Given the description of an element on the screen output the (x, y) to click on. 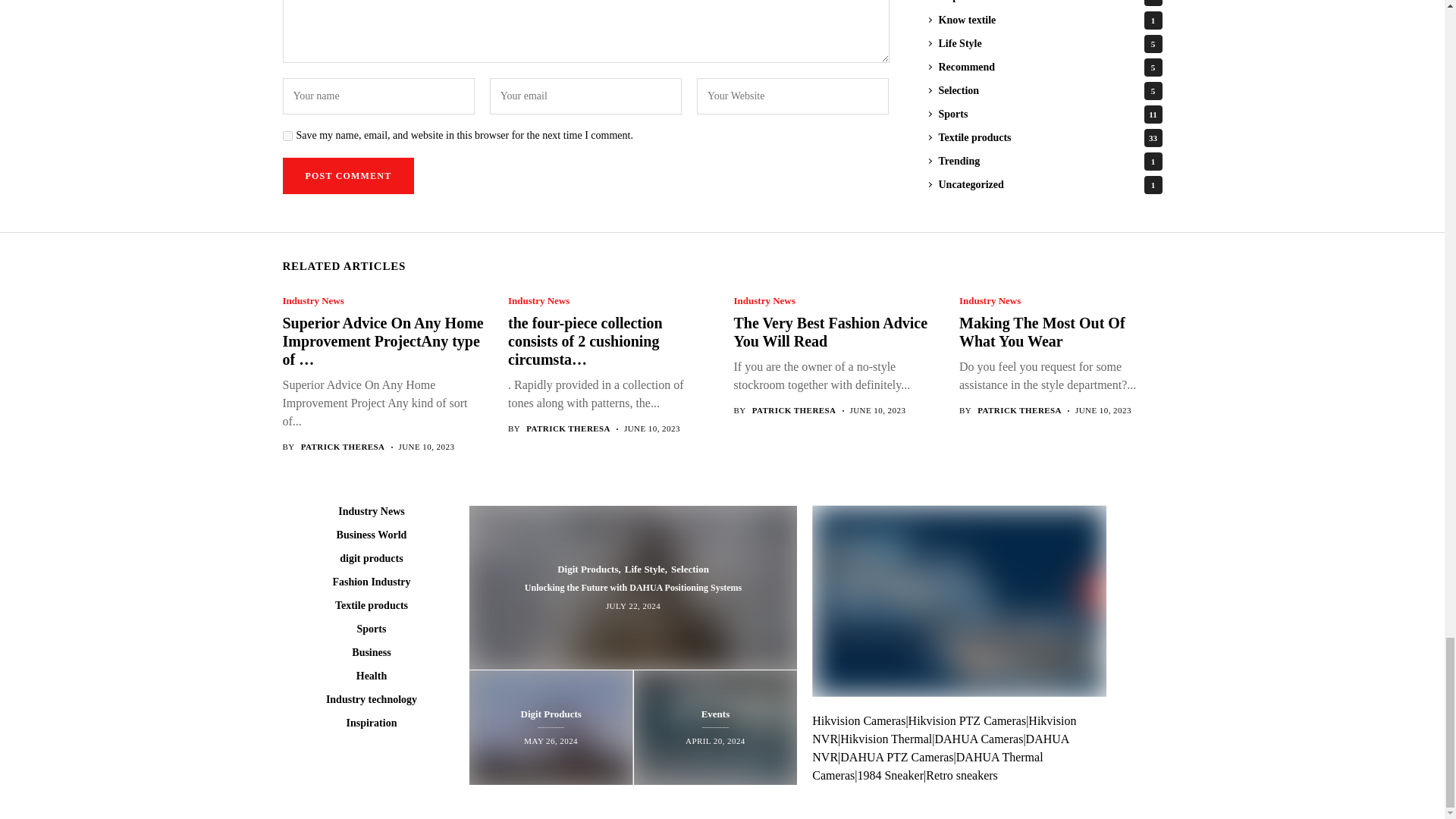
Post Comment (347, 176)
Posts by Patrick Theresa (793, 410)
yes (287, 135)
Posts by Patrick Theresa (1018, 410)
Posts by Patrick Theresa (567, 429)
Posts by Patrick Theresa (343, 447)
